Given the description of an element on the screen output the (x, y) to click on. 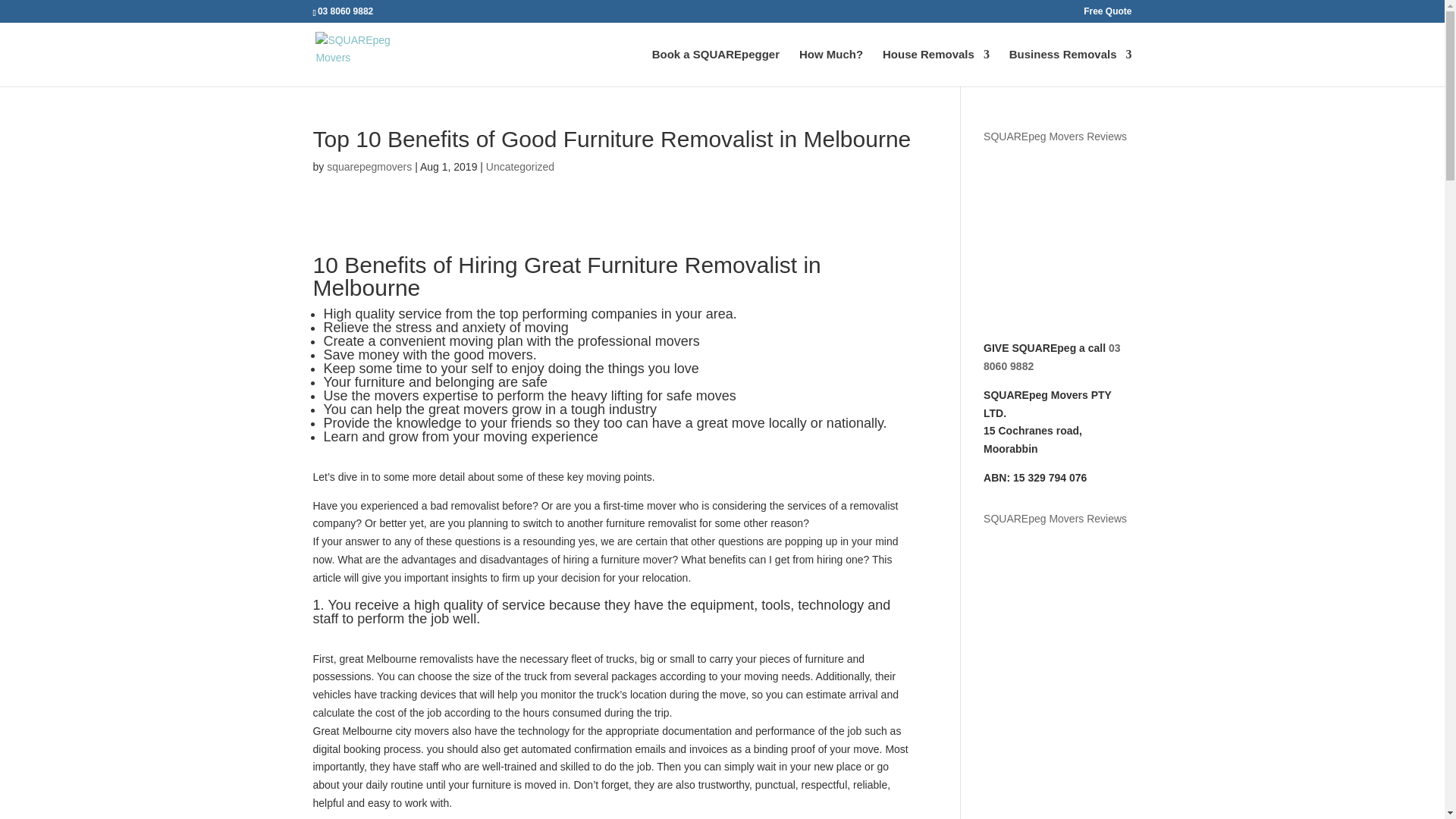
squarepegmovers (369, 166)
Business Removals (1070, 67)
03 8060 9882 (1052, 357)
How Much? (831, 67)
Free Quote (1107, 14)
SQUAREpeg Movers Reviews (1057, 519)
House Removals (936, 67)
Home Removals (936, 67)
SQUAREpeg Movers Reviews (1057, 136)
Uncategorized (520, 166)
